Given the description of an element on the screen output the (x, y) to click on. 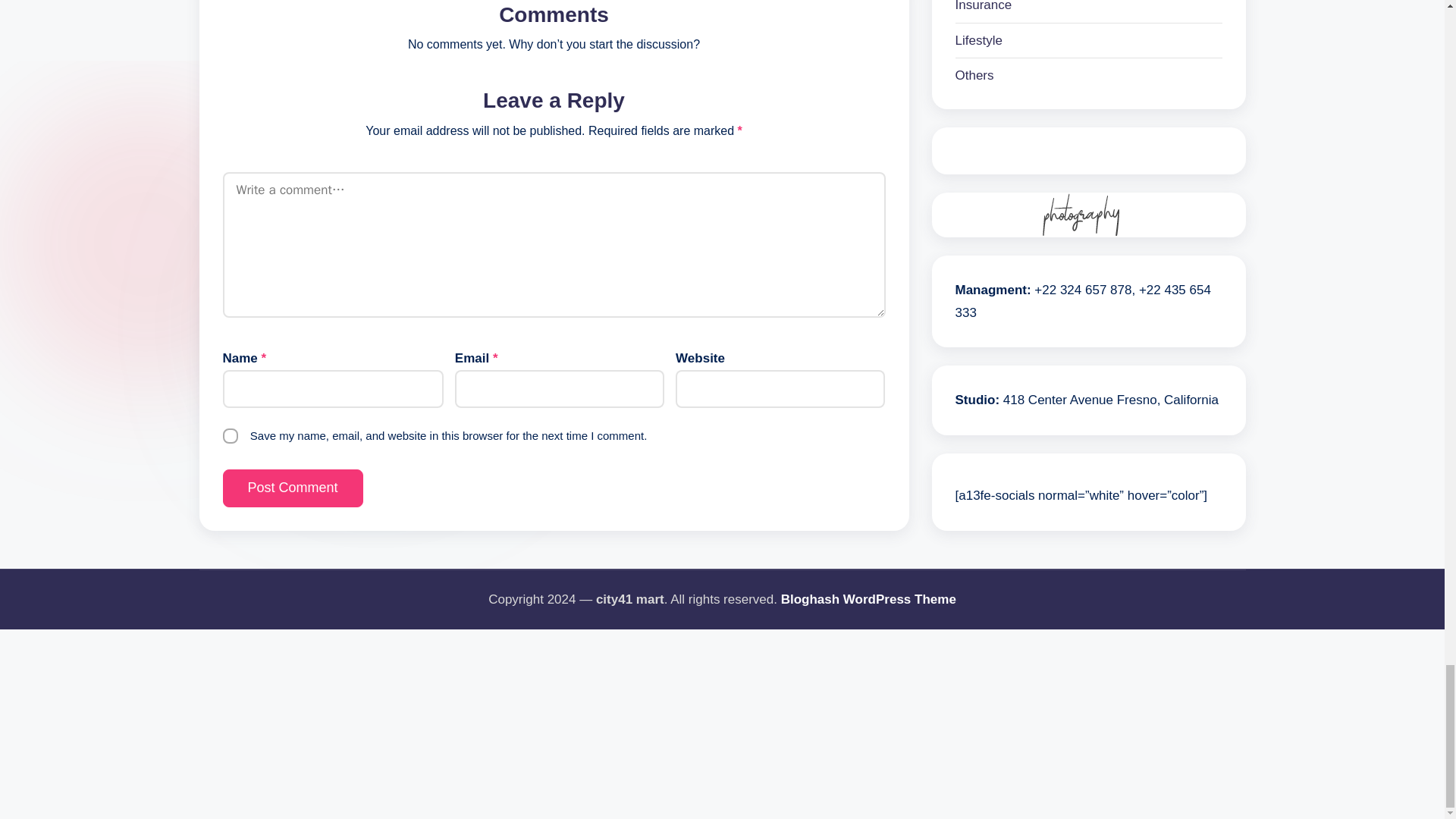
Post Comment (292, 487)
yes (230, 435)
Post Comment (292, 487)
Bloghash WordPress Theme (868, 599)
